Given the description of an element on the screen output the (x, y) to click on. 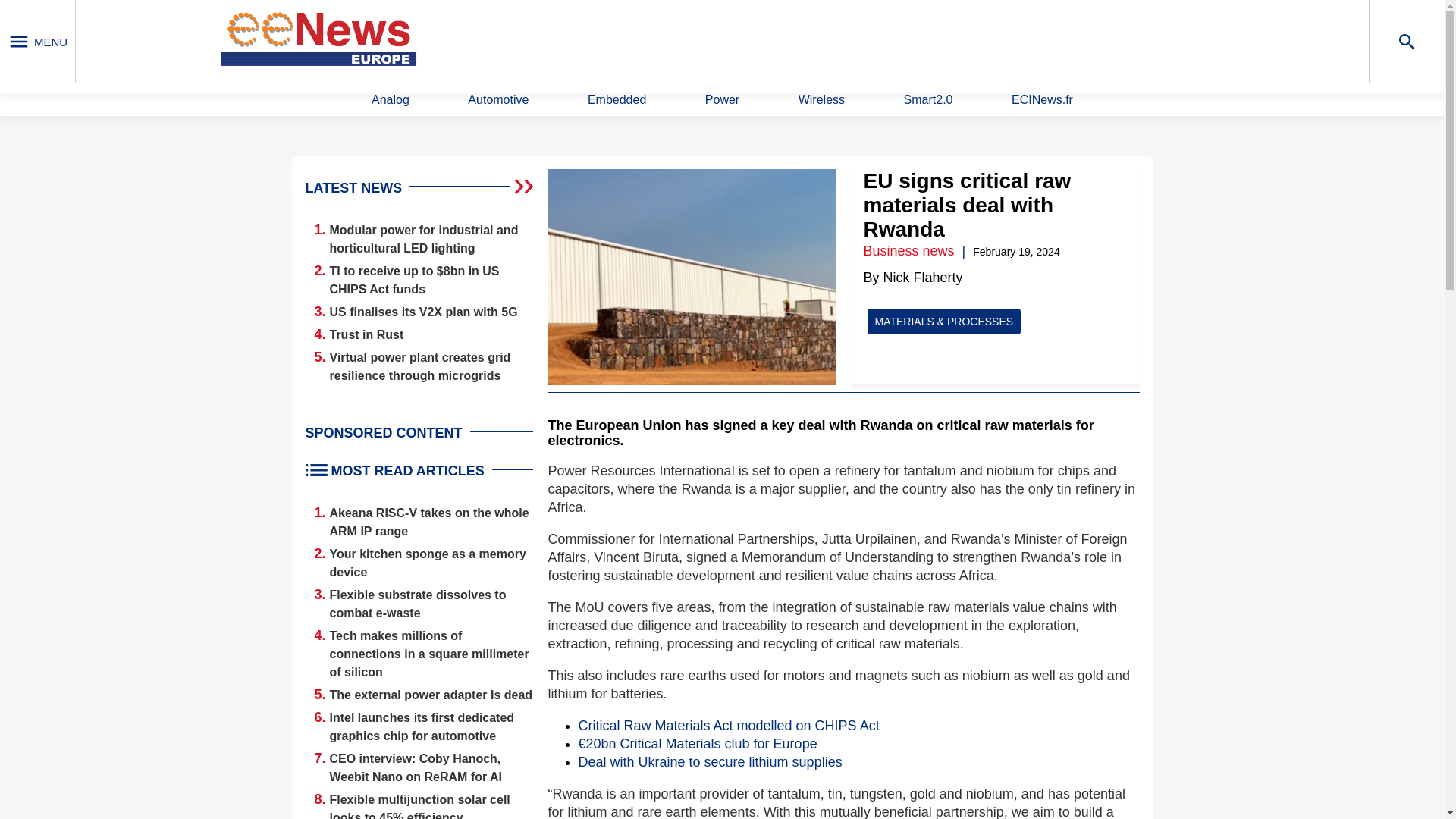
Search (949, 40)
Smart2.0 (928, 99)
Analog (390, 99)
Power (721, 99)
Wireless (820, 99)
ECINews.fr (1042, 99)
Embedded (617, 99)
Automotive (497, 99)
